Given the description of an element on the screen output the (x, y) to click on. 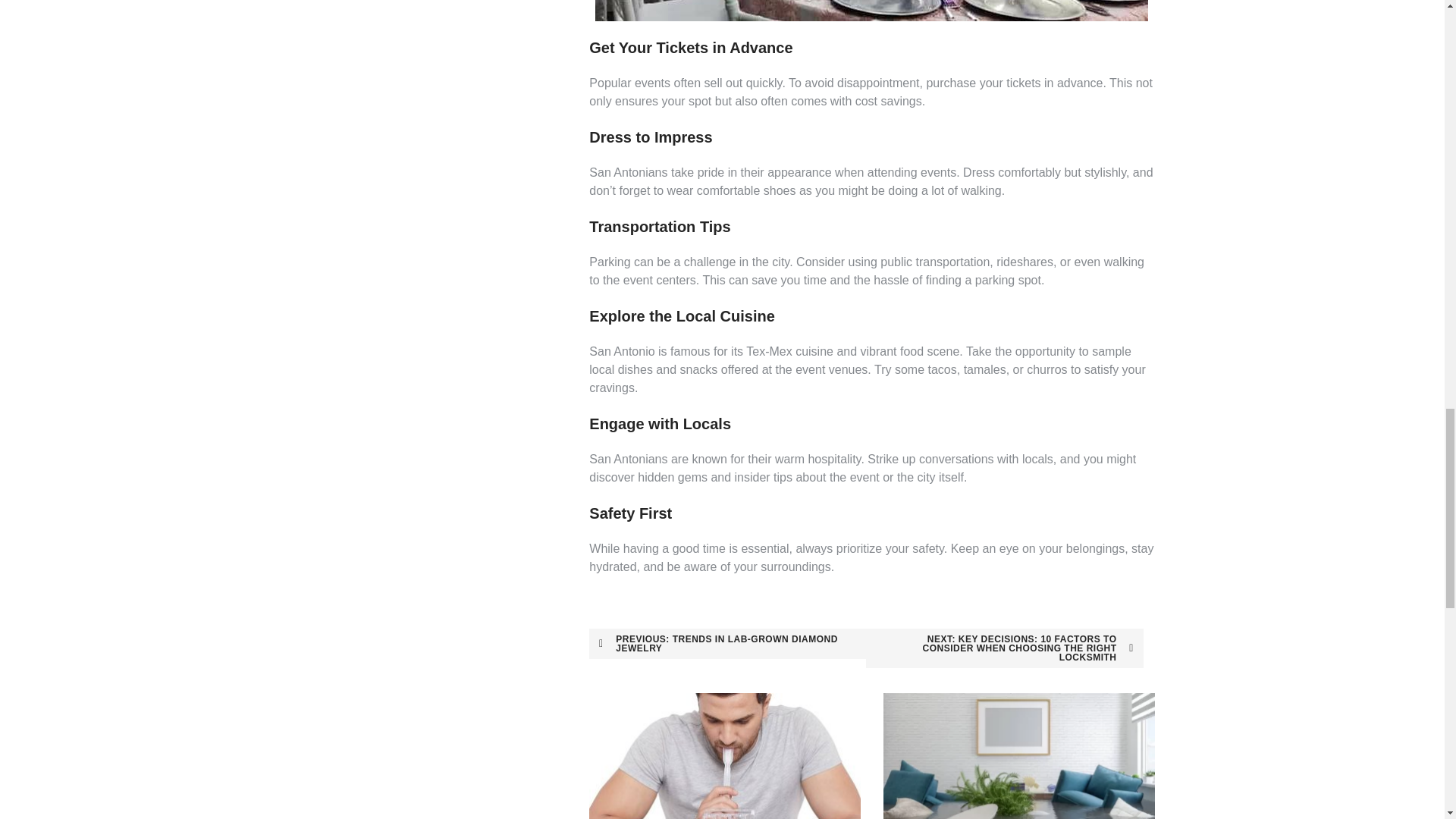
PREVIOUS: TRENDS IN LAB-GROWN DIAMOND JEWELRY (727, 643)
